Given the description of an element on the screen output the (x, y) to click on. 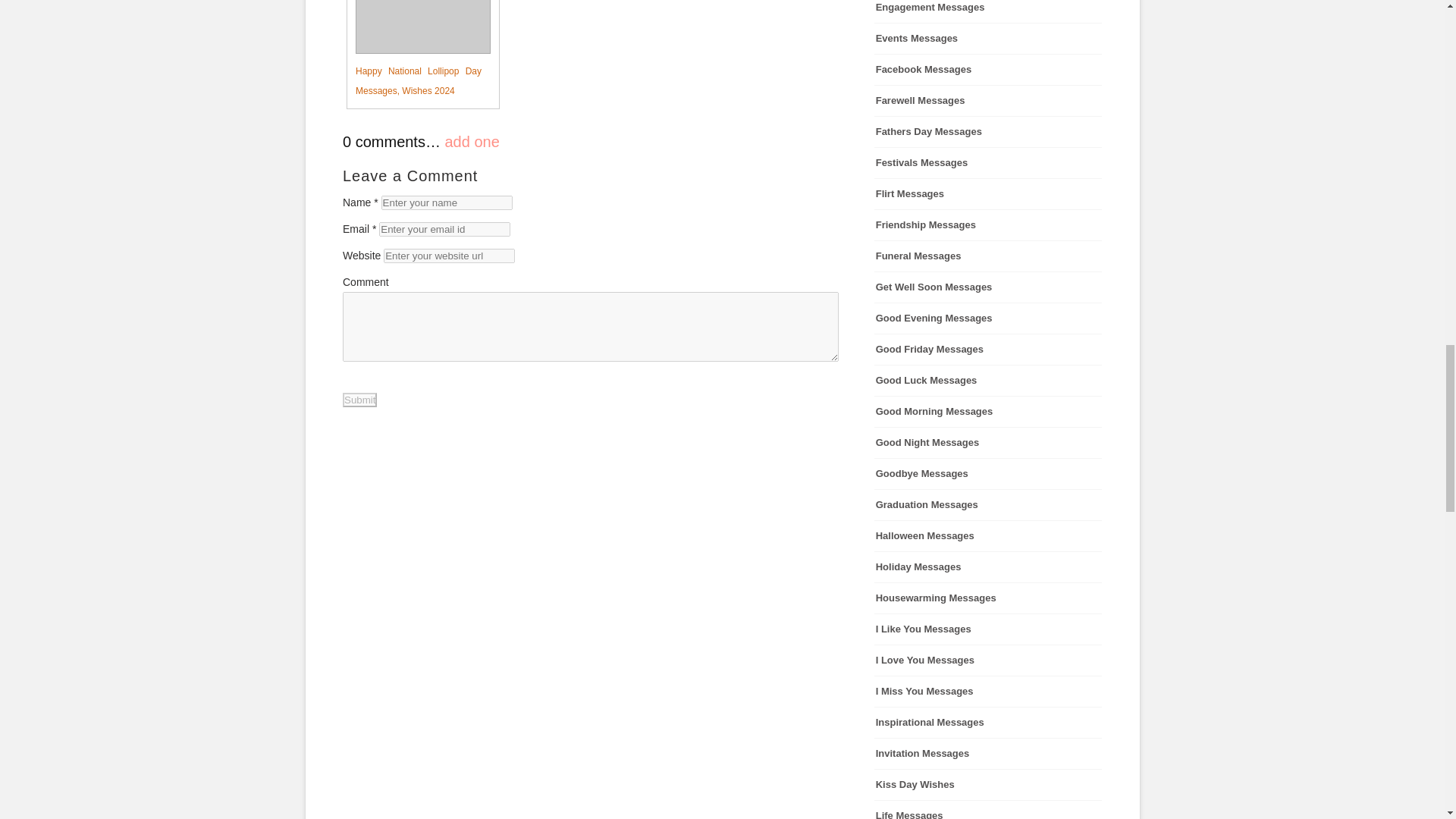
Submit (359, 400)
Submit (359, 400)
add one (471, 141)
Happy National Lollipop Day Messages, Wishes 2024 (414, 49)
Happy National Lollipop Day Messages, Wishes 2024 (414, 49)
